Given the description of an element on the screen output the (x, y) to click on. 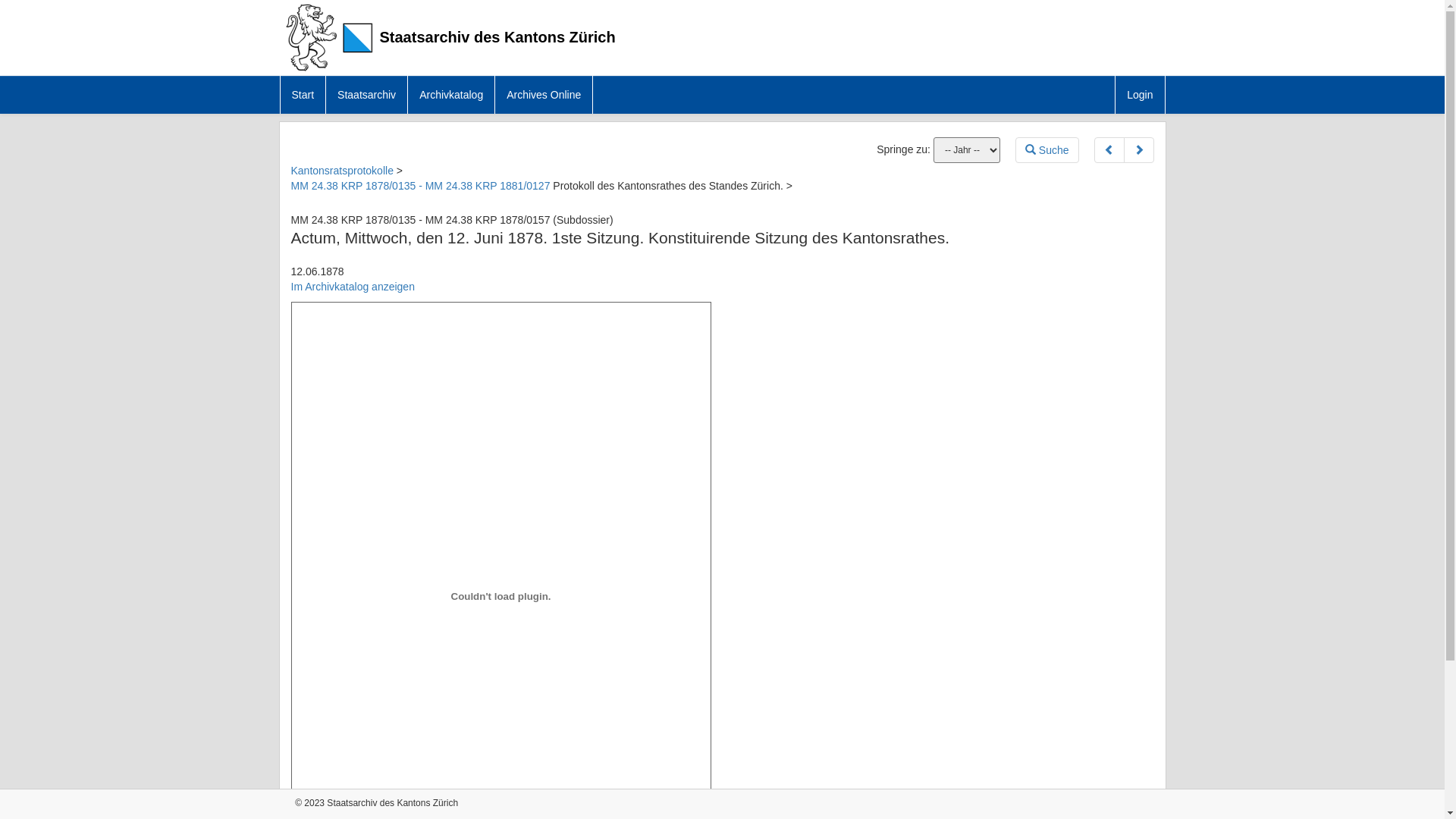
Suche Element type: text (1047, 150)
Staatsarchiv Element type: text (366, 94)
MM 24.38 KRP 1878/0135 - MM 24.38 KRP 1881/0127 Element type: text (420, 185)
Start Element type: text (303, 94)
Archivkatalog Element type: text (451, 94)
Login Element type: text (1139, 94)
Archives Online Element type: text (544, 94)
Kantonsratsprotokolle Element type: text (343, 170)
Im Archivkatalog anzeigen Element type: text (352, 286)
